Given the description of an element on the screen output the (x, y) to click on. 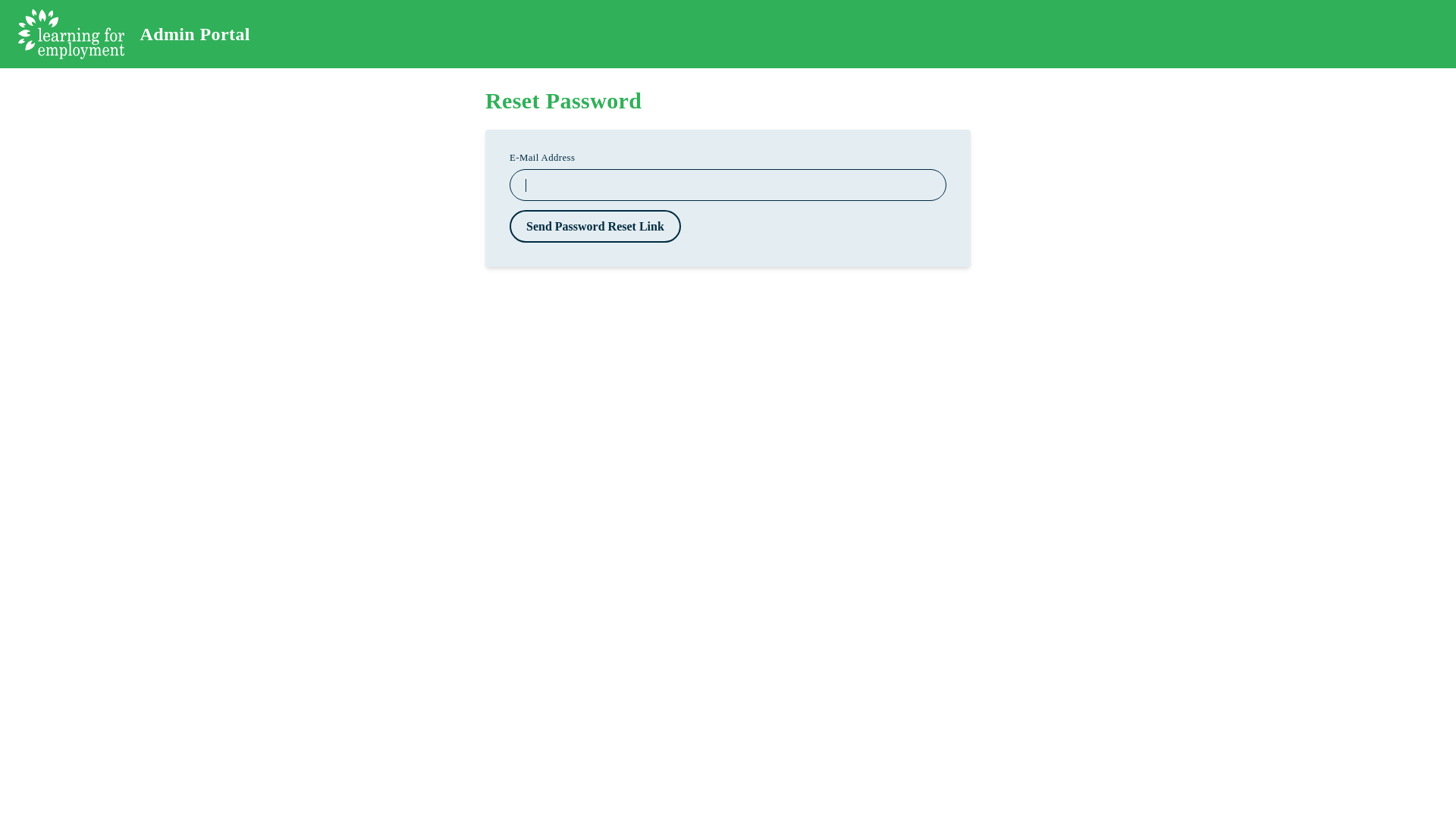
Admin Portal Element type: text (134, 34)
Send Password Reset Link Element type: text (594, 226)
